Given the description of an element on the screen output the (x, y) to click on. 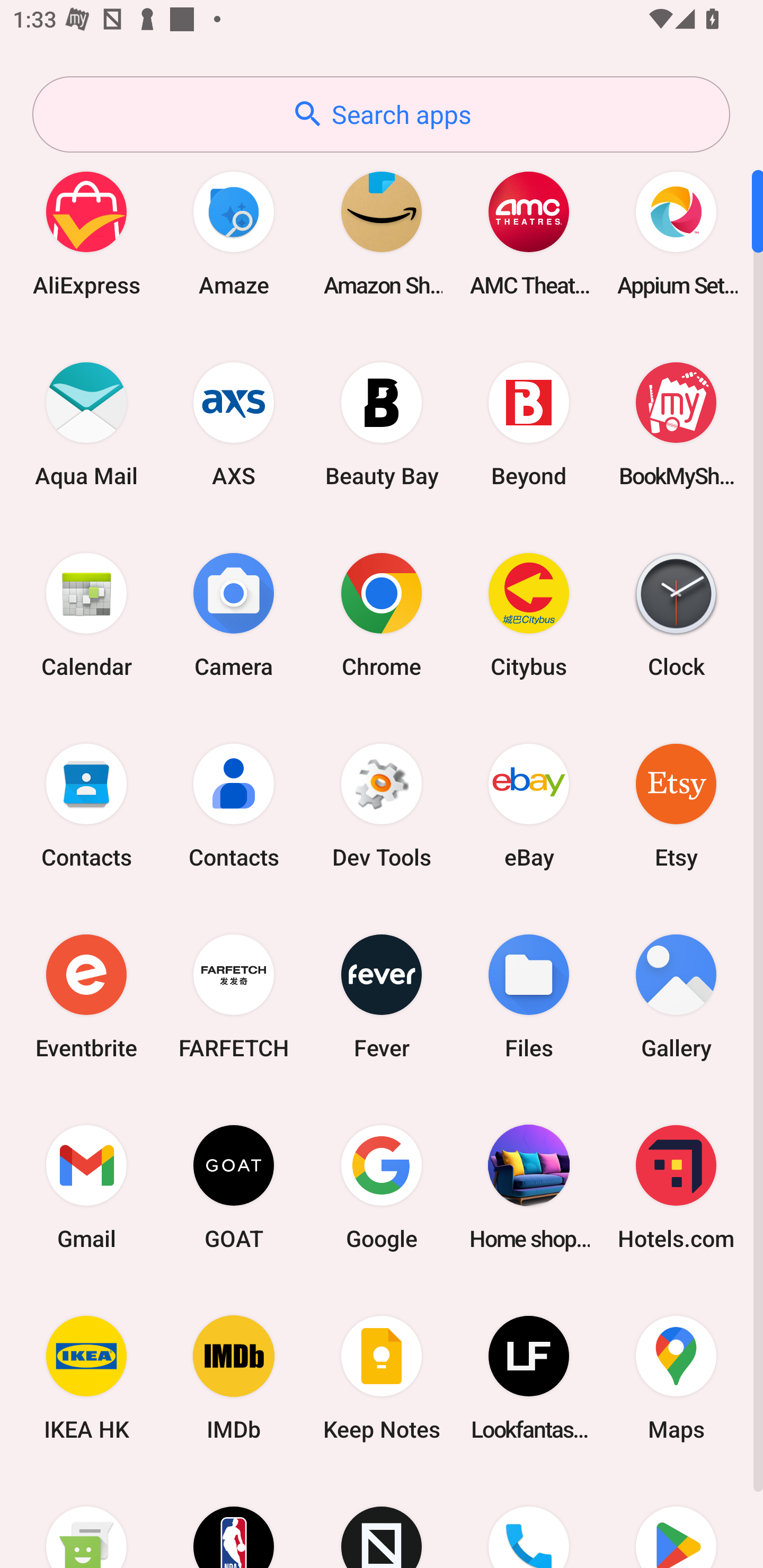
  Search apps (381, 114)
AliExpress (86, 233)
Amaze (233, 233)
Amazon Shopping (381, 233)
AMC Theatres (528, 233)
Appium Settings (676, 233)
Aqua Mail (86, 424)
AXS (233, 424)
Beauty Bay (381, 424)
Beyond (528, 424)
BookMyShow (676, 424)
Calendar (86, 614)
Camera (233, 614)
Chrome (381, 614)
Citybus (528, 614)
Clock (676, 614)
Contacts (86, 805)
Contacts (233, 805)
Dev Tools (381, 805)
eBay (528, 805)
Etsy (676, 805)
Eventbrite (86, 996)
FARFETCH (233, 996)
Fever (381, 996)
Files (528, 996)
Gallery (676, 996)
Gmail (86, 1186)
GOAT (233, 1186)
Google (381, 1186)
Home shopping (528, 1186)
Hotels.com (676, 1186)
IKEA HK (86, 1377)
IMDb (233, 1377)
Keep Notes (381, 1377)
Lookfantastic (528, 1377)
Maps (676, 1377)
Messaging (86, 1520)
NBA (233, 1520)
Novelship (381, 1520)
Phone (528, 1520)
Play Store (676, 1520)
